Given the description of an element on the screen output the (x, y) to click on. 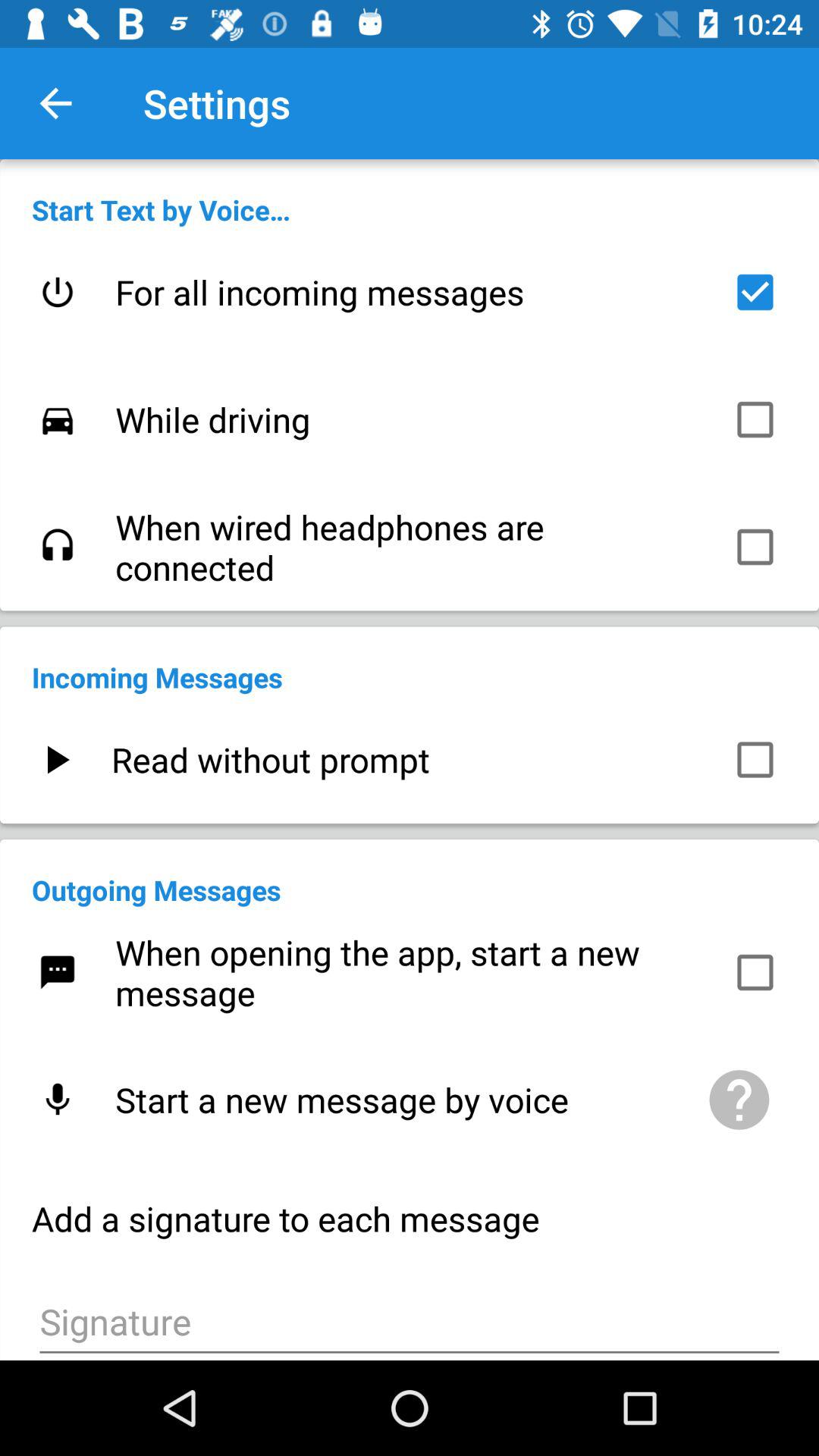
open item next to start a new icon (739, 1099)
